Given the description of an element on the screen output the (x, y) to click on. 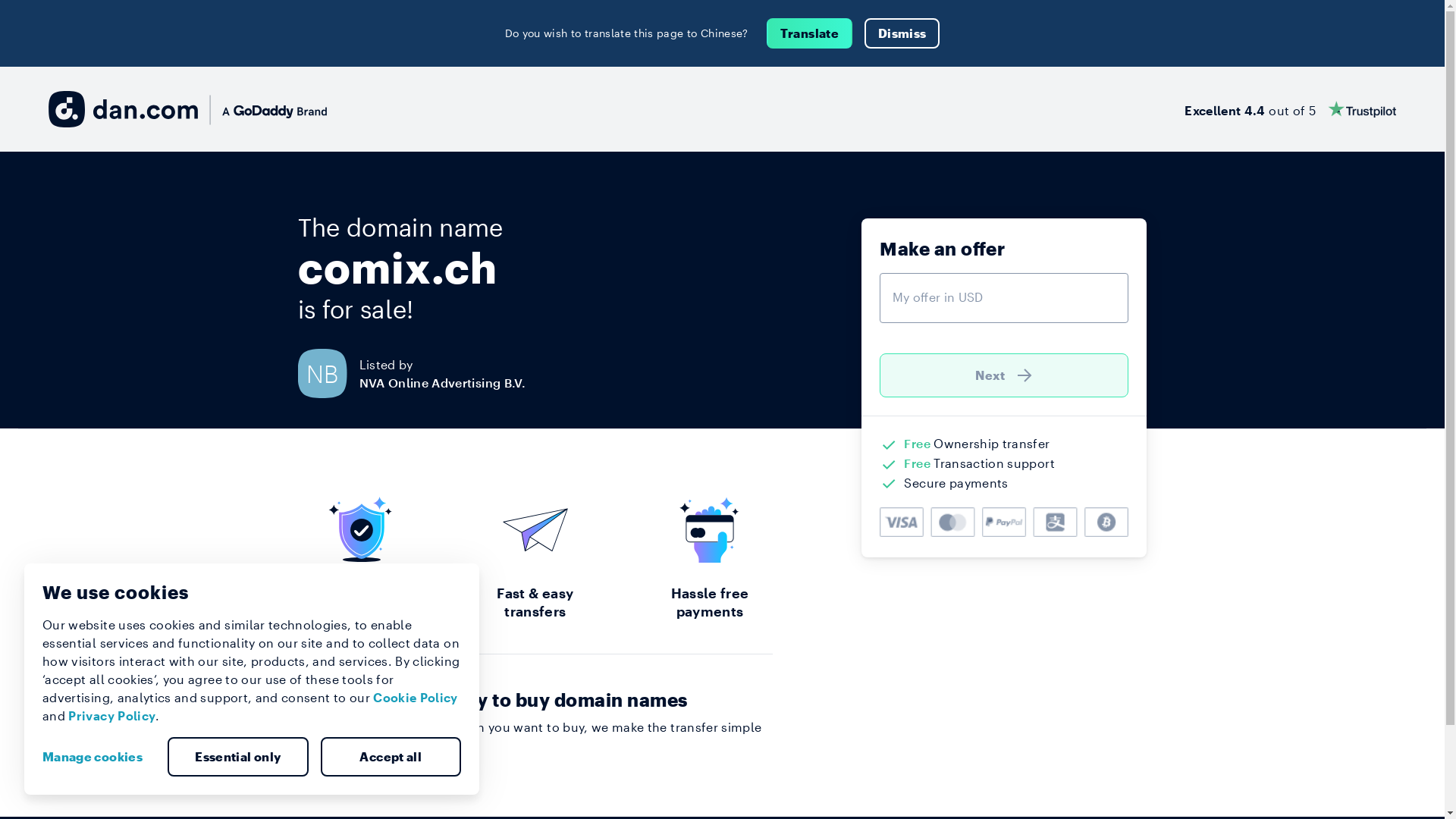
Translate Element type: text (809, 33)
Essential only Element type: text (237, 756)
Accept all Element type: text (390, 756)
Next
) Element type: text (1003, 375)
Privacy Policy Element type: text (111, 715)
Manage cookies Element type: text (98, 756)
Dismiss Element type: text (901, 33)
Cookie Policy Element type: text (415, 697)
Excellent 4.4 out of 5 Element type: text (1290, 109)
